Given the description of an element on the screen output the (x, y) to click on. 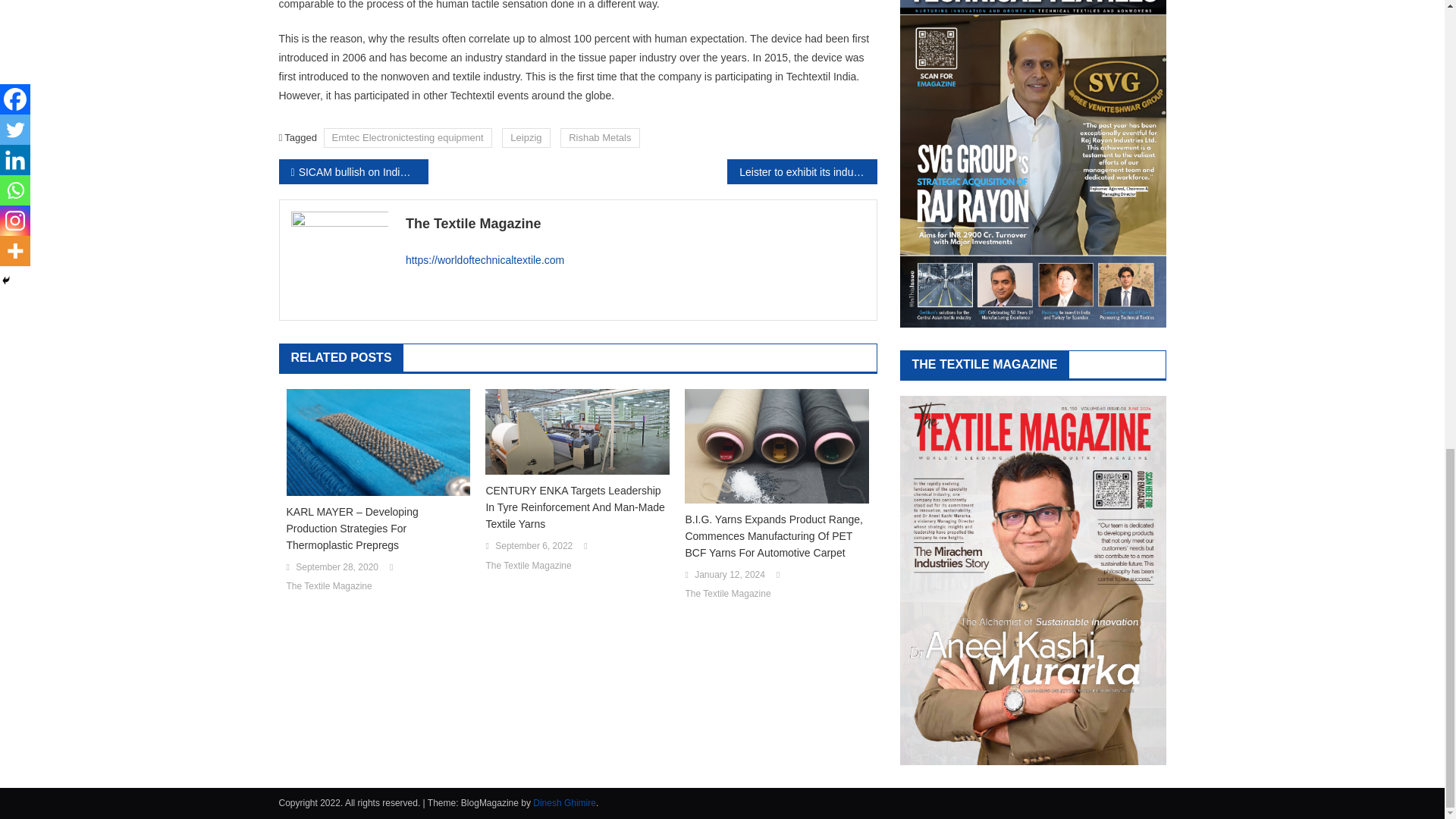
Leipzig (526, 137)
Rishab Metals (599, 137)
SICAM bullish on Indian market for its nonwoven solutions (353, 171)
Emtec Electronictesting equipment (407, 137)
